Given the description of an element on the screen output the (x, y) to click on. 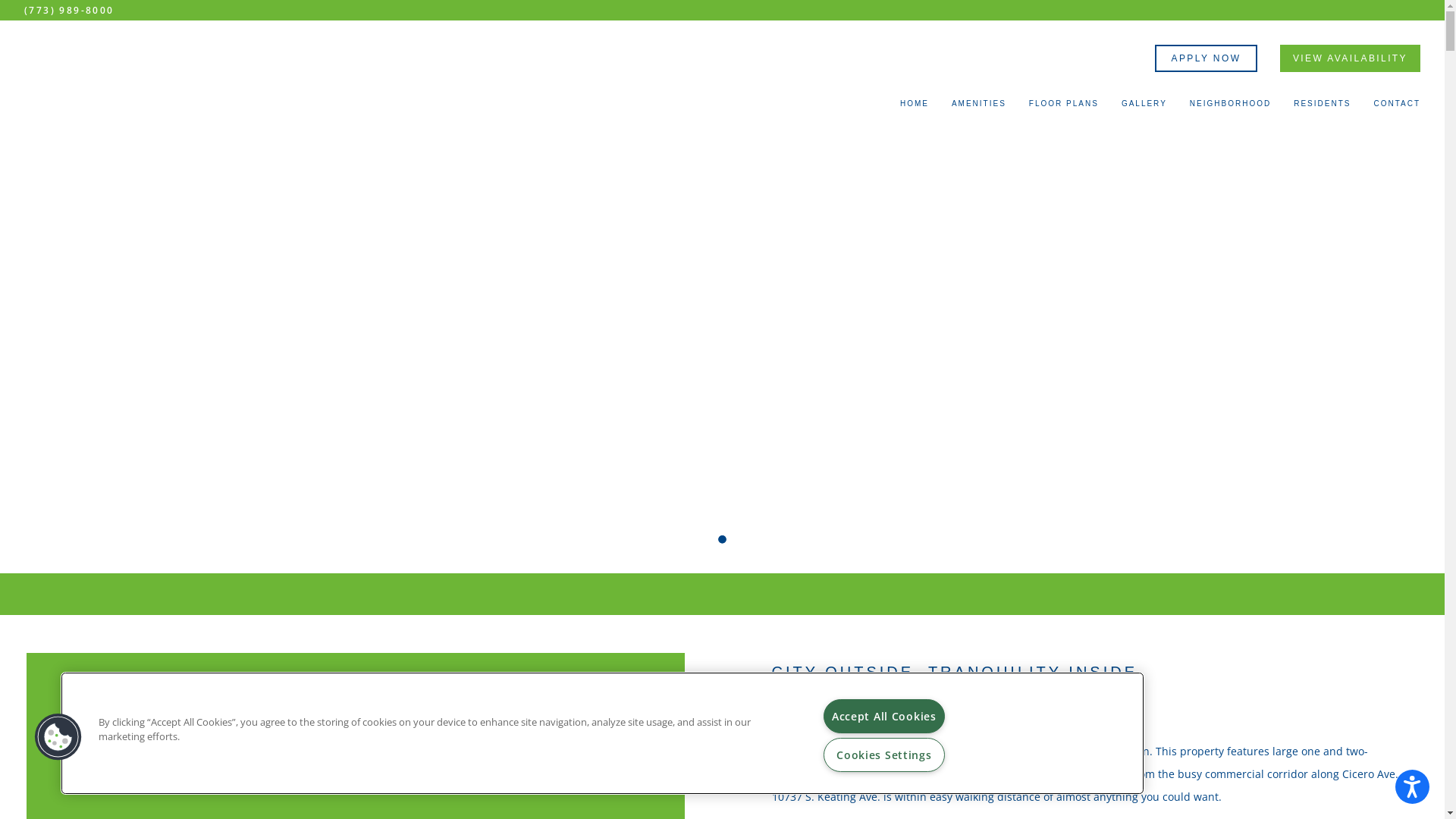
APPLY NOW Element type: text (1205, 58)
NEIGHBORHOOD Element type: text (1229, 108)
VIEW AVAILABILITY Element type: text (1350, 58)
AMENITIES Element type: text (978, 108)
RESIDENTS Element type: text (1321, 108)
Cookies Settings Element type: text (883, 754)
Cookies Button Element type: text (58, 736)
HOME Element type: text (914, 108)
FLOOR PLANS Element type: text (1063, 108)
(773) 989-8000 Element type: text (69, 9)
Accept All Cookies Element type: text (883, 716)
GALLERY Element type: text (1144, 108)
CONTACT Element type: text (1396, 108)
